Given the description of an element on the screen output the (x, y) to click on. 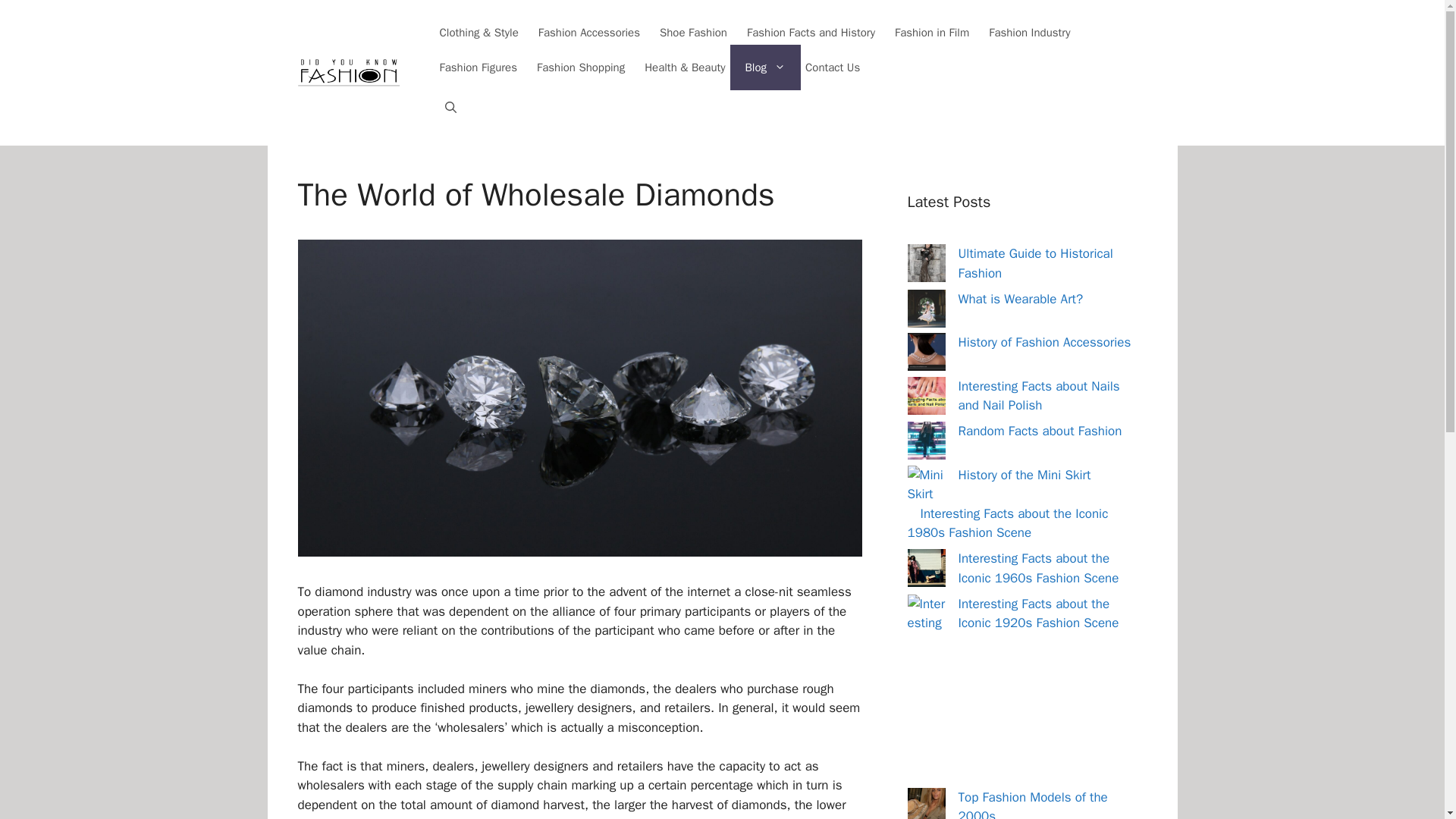
Fashion Shopping (580, 67)
Fashion Facts and History (810, 32)
What is Wearable Art? (1020, 299)
Fashion Figures (478, 67)
Fashion Accessories (588, 32)
Interesting Facts about Nails and Nail Polish (1038, 395)
Random Facts about Fashion (1040, 430)
Blog (765, 67)
Interesting Facts about the Iconic 1960s Fashion Scene (1038, 568)
History of the Mini Skirt (1024, 474)
